Given the description of an element on the screen output the (x, y) to click on. 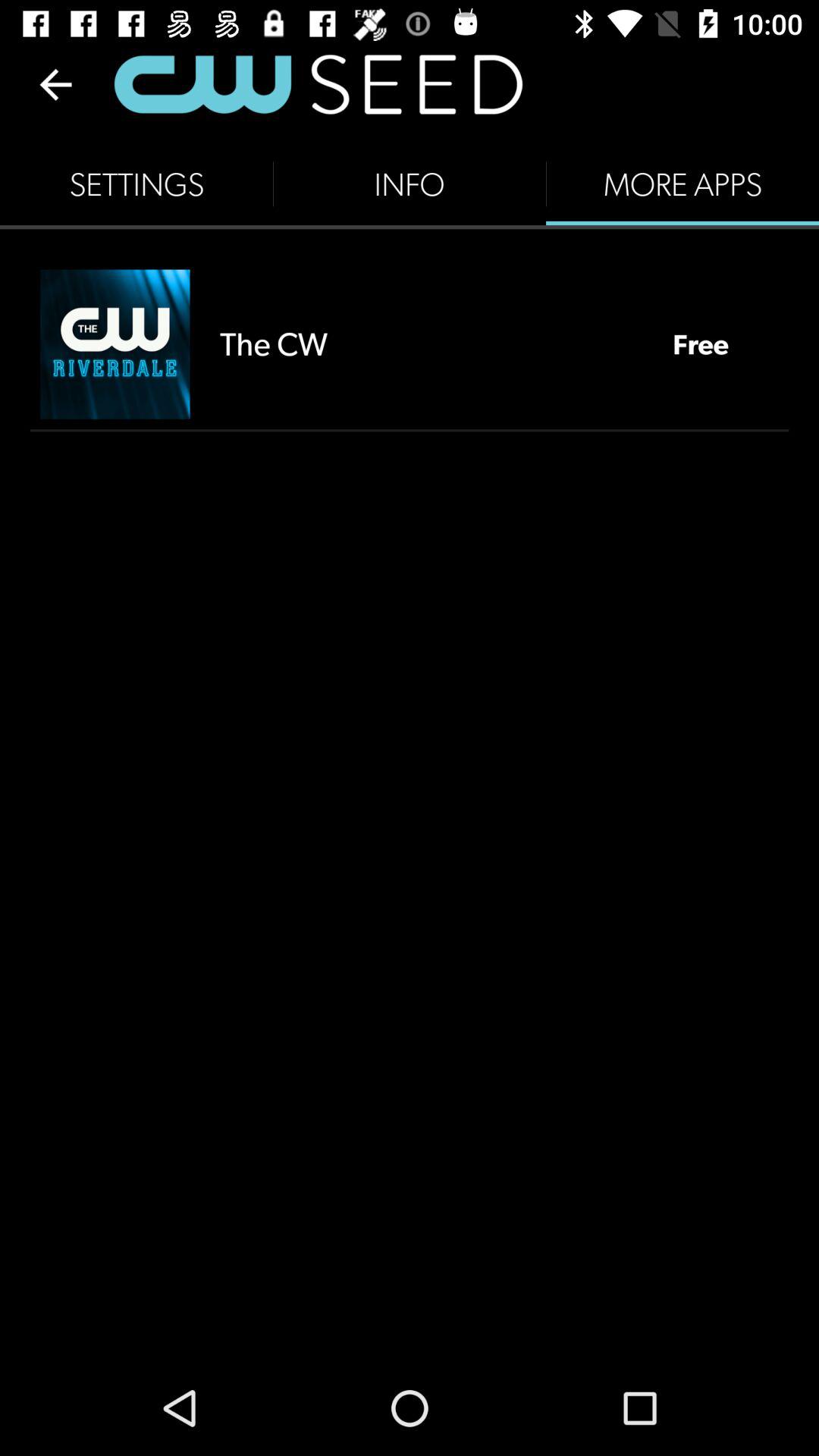
scroll until the free item (700, 343)
